Given the description of an element on the screen output the (x, y) to click on. 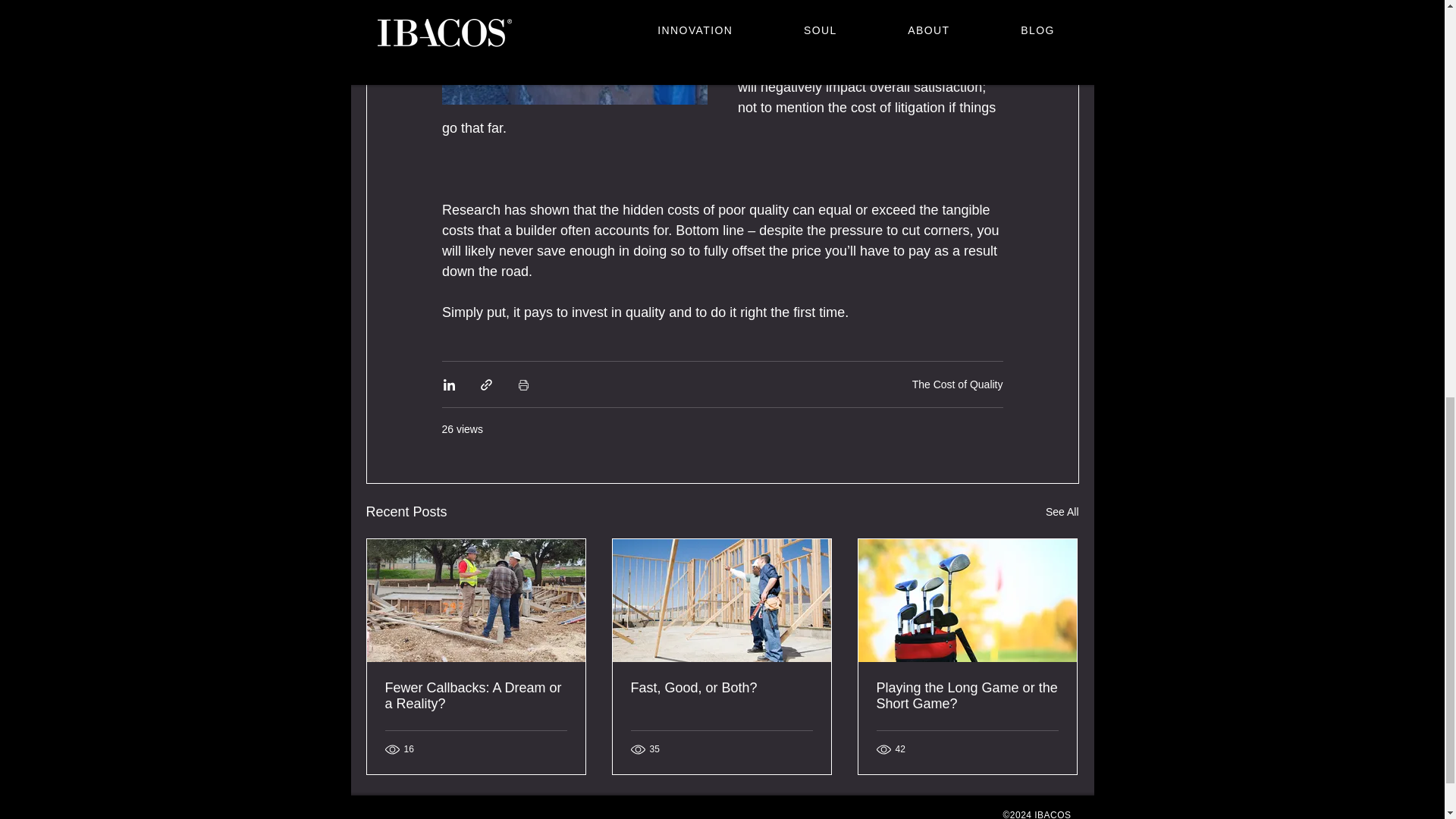
Playing the Long Game or the Short Game? (967, 695)
Fast, Good, or Both? (721, 688)
See All (1061, 512)
Fewer Callbacks: A Dream or a Reality? (476, 695)
The Cost of Quality (957, 383)
